Given the description of an element on the screen output the (x, y) to click on. 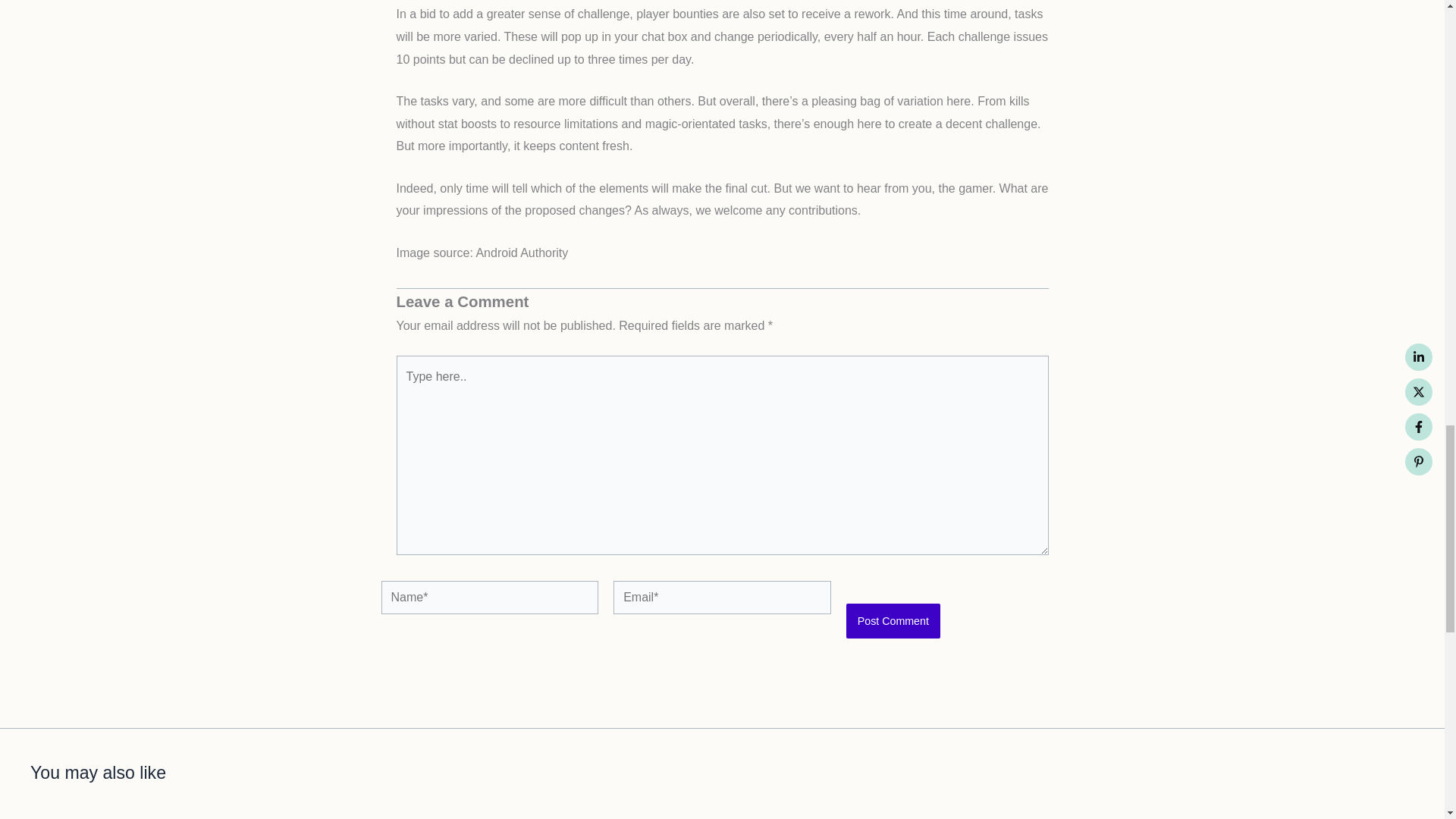
25 Best and Handpicked Android Games 5 (898, 815)
Post Comment (892, 620)
Post Comment (892, 620)
A game with steep learning, but does wonders once learned 6 (1249, 815)
